Given the description of an element on the screen output the (x, y) to click on. 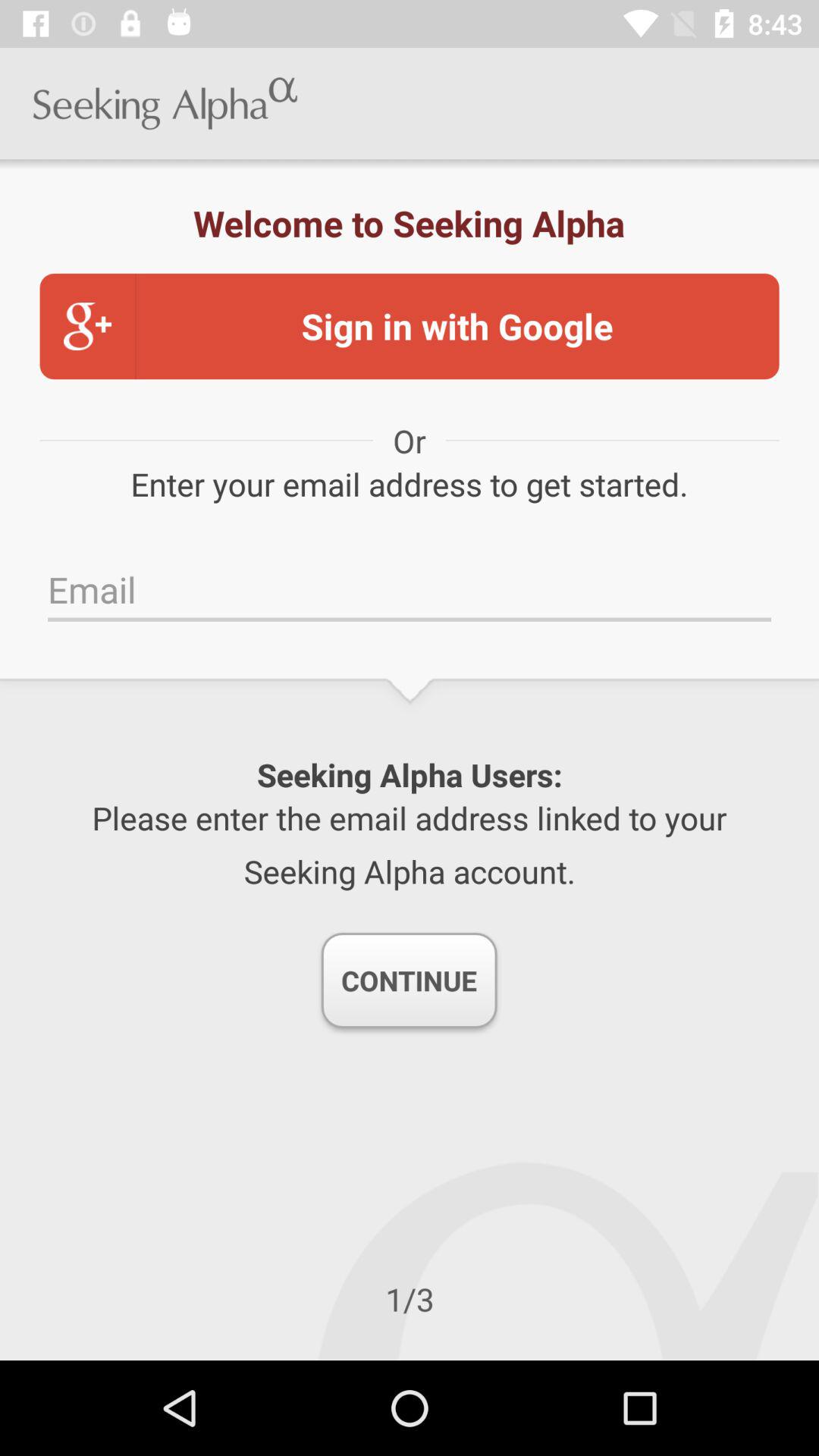
tap the continue item (409, 980)
